Given the description of an element on the screen output the (x, y) to click on. 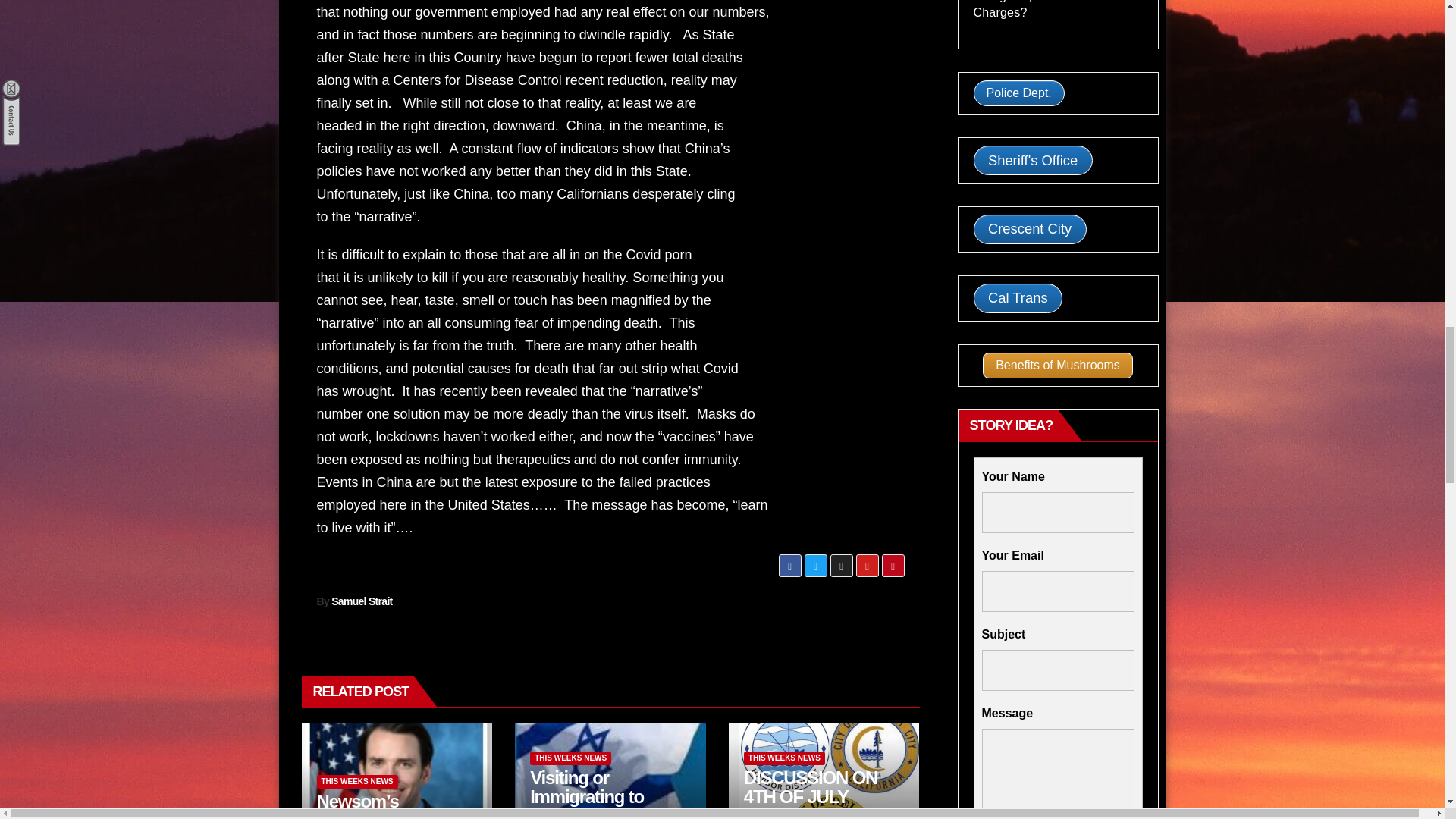
THIS WEEKS NEWS (357, 781)
Visiting or Immigrating to Israel? (586, 793)
THIS WEEKS NEWS (784, 757)
Permalink to: Visiting or Immigrating to Israel? (586, 793)
Samuel Strait (361, 601)
THIS WEEKS NEWS (570, 757)
